Given the description of an element on the screen output the (x, y) to click on. 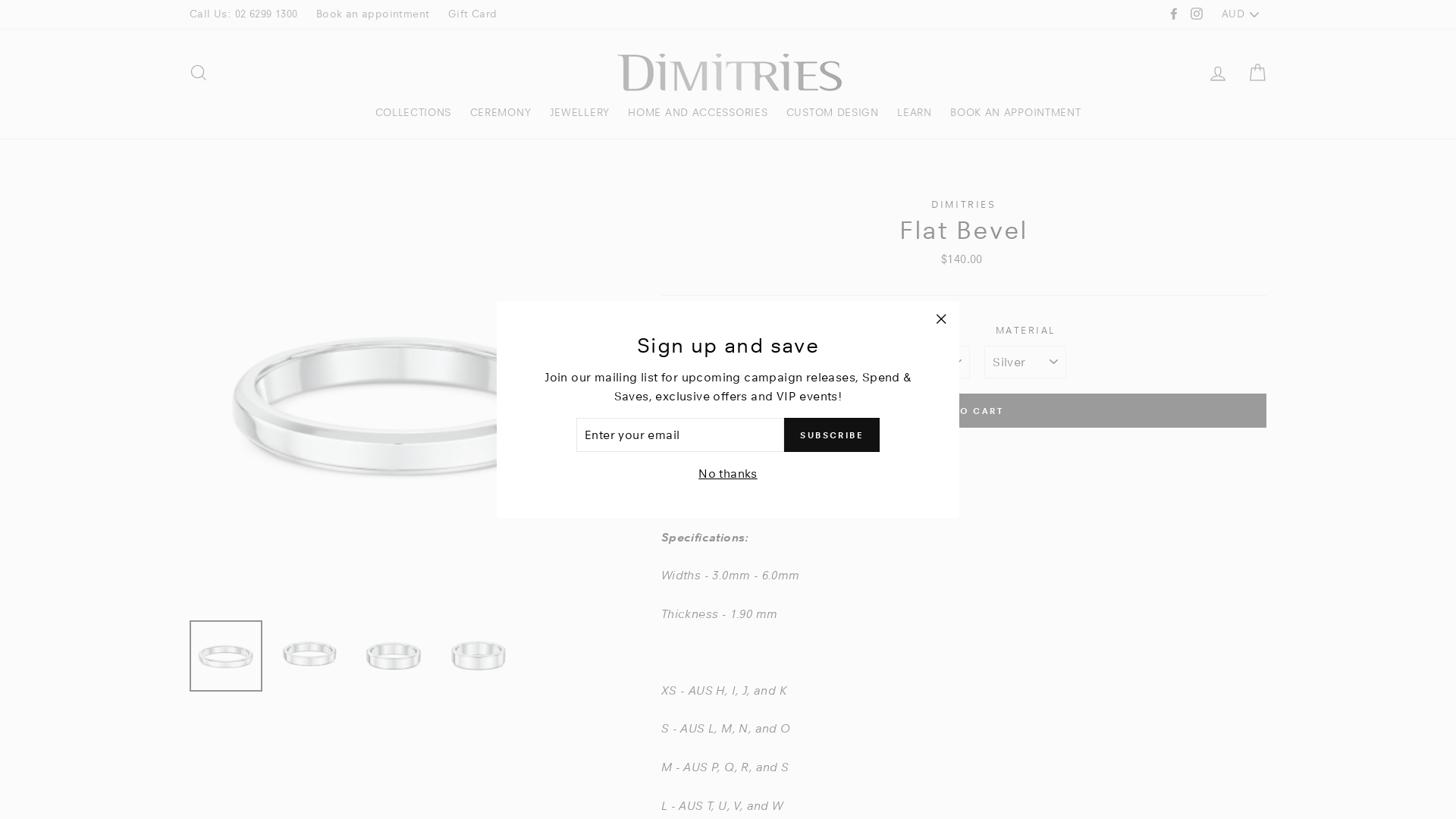
COLLECTIONS Element type: text (412, 112)
BOOK AN APPOINTMENT Element type: text (1015, 112)
Gift Card Element type: text (472, 14)
ADD TO CART Element type: text (963, 410)
Instagram Element type: text (1196, 14)
CEREMONY Element type: text (500, 112)
Book an appointment Element type: text (372, 14)
Call Us: 02 6299 1300 Element type: text (243, 14)
CART Element type: text (1257, 72)
SUBSCRIBE Element type: text (831, 434)
LEARN Element type: text (914, 112)
Skip to content Element type: text (0, 0)
Facebook Element type: text (1173, 14)
HOME AND ACCESSORIES Element type: text (697, 112)
No thanks Element type: text (727, 473)
CUSTOM DESIGN Element type: text (832, 112)
JEWELLERY Element type: text (579, 112)
